Given the description of an element on the screen output the (x, y) to click on. 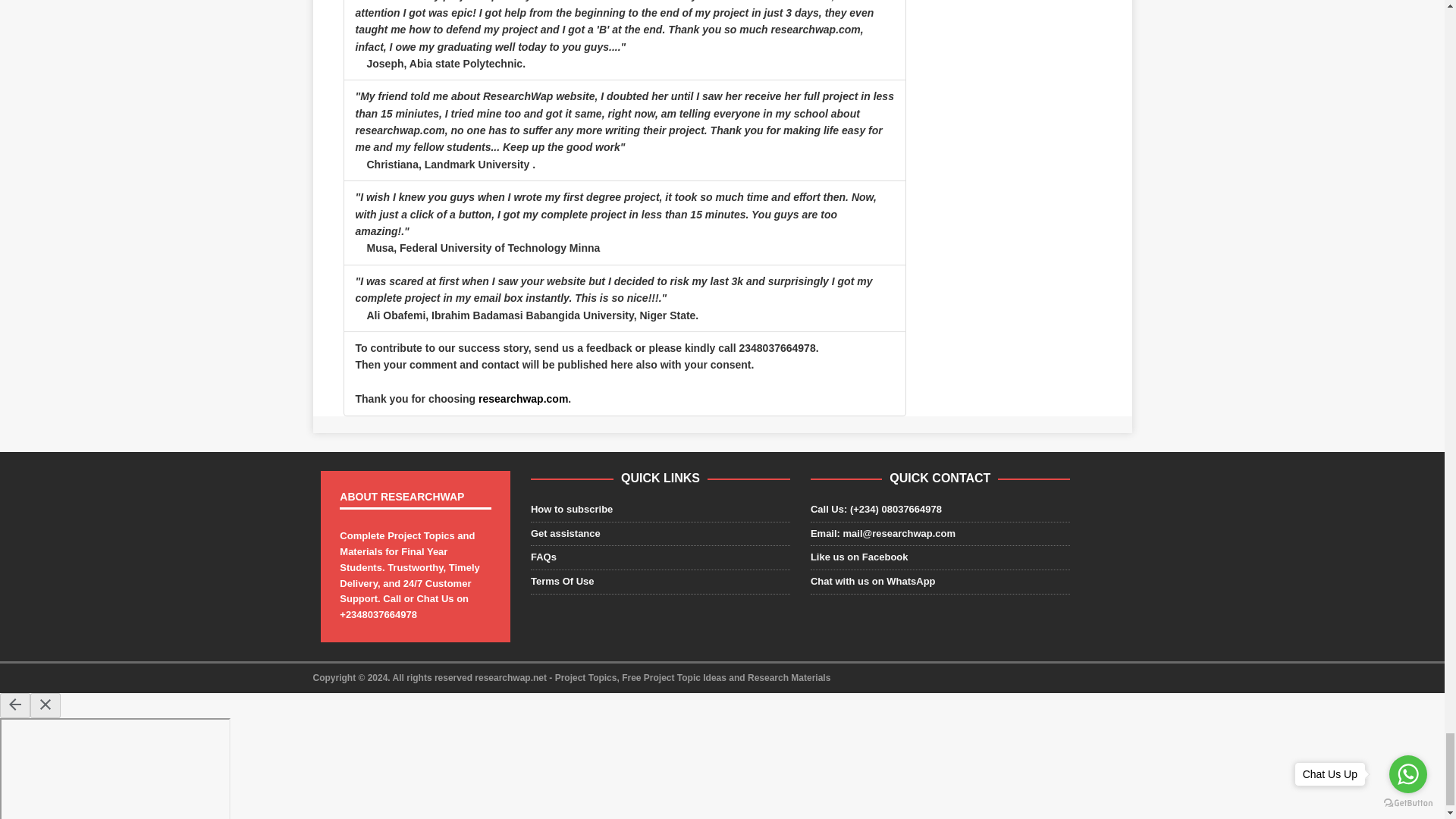
researchwap.com (523, 398)
